Given the description of an element on the screen output the (x, y) to click on. 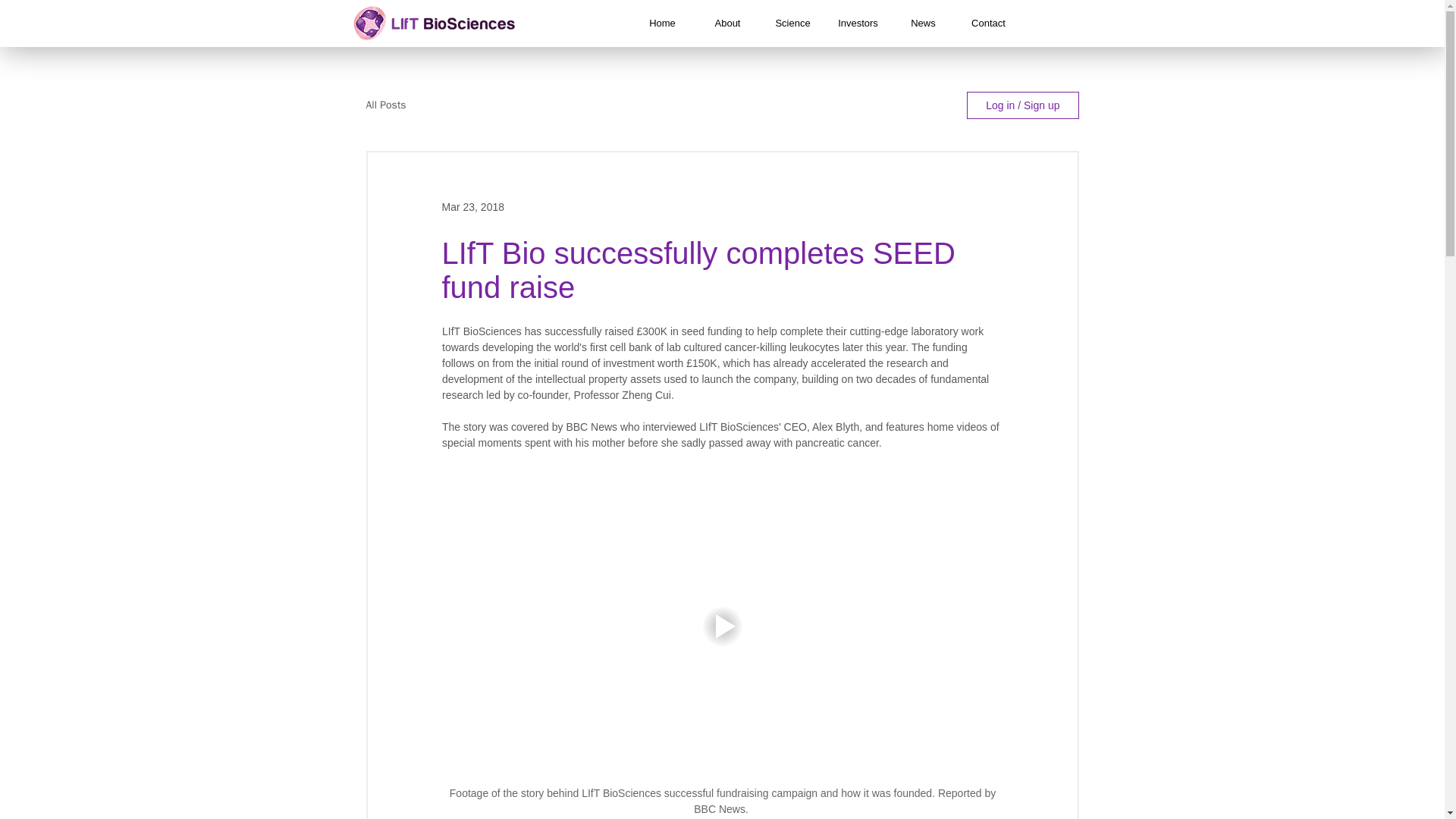
Mar 23, 2018 (472, 205)
All Posts (385, 105)
Contact (987, 23)
About (727, 23)
Home (661, 23)
Investors (857, 23)
Science (792, 23)
News (922, 23)
